Given the description of an element on the screen output the (x, y) to click on. 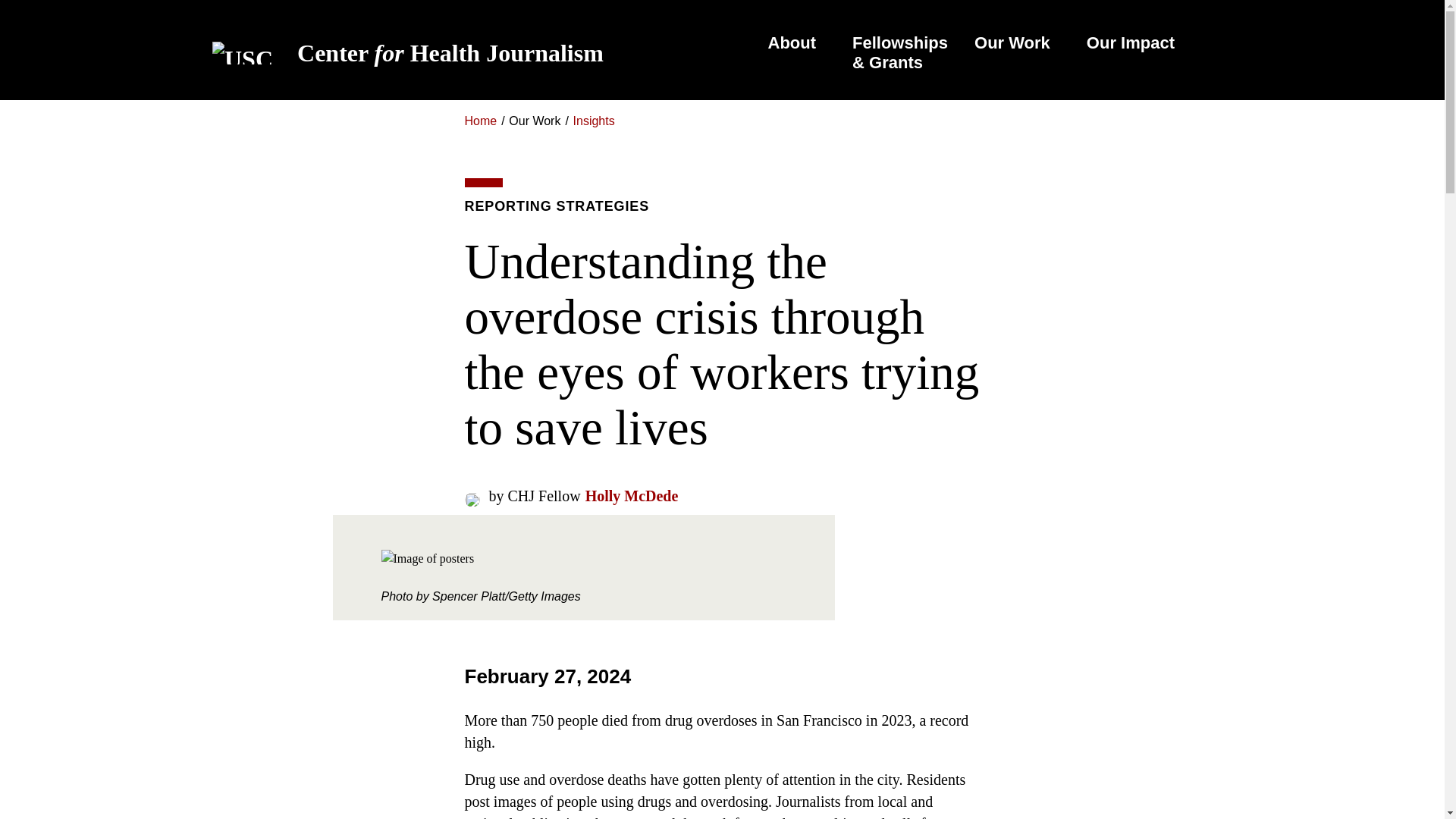
Center for Health Journalism (434, 53)
